Given the description of an element on the screen output the (x, y) to click on. 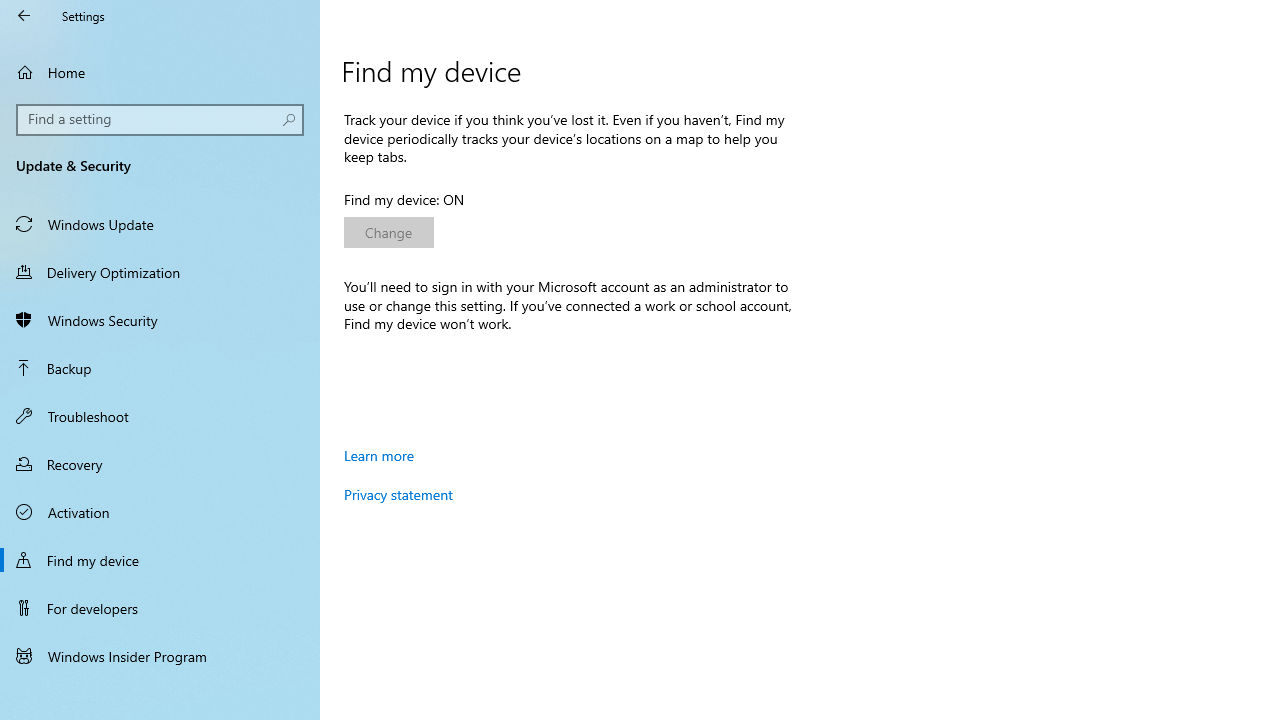
Learn more (379, 455)
